Given the description of an element on the screen output the (x, y) to click on. 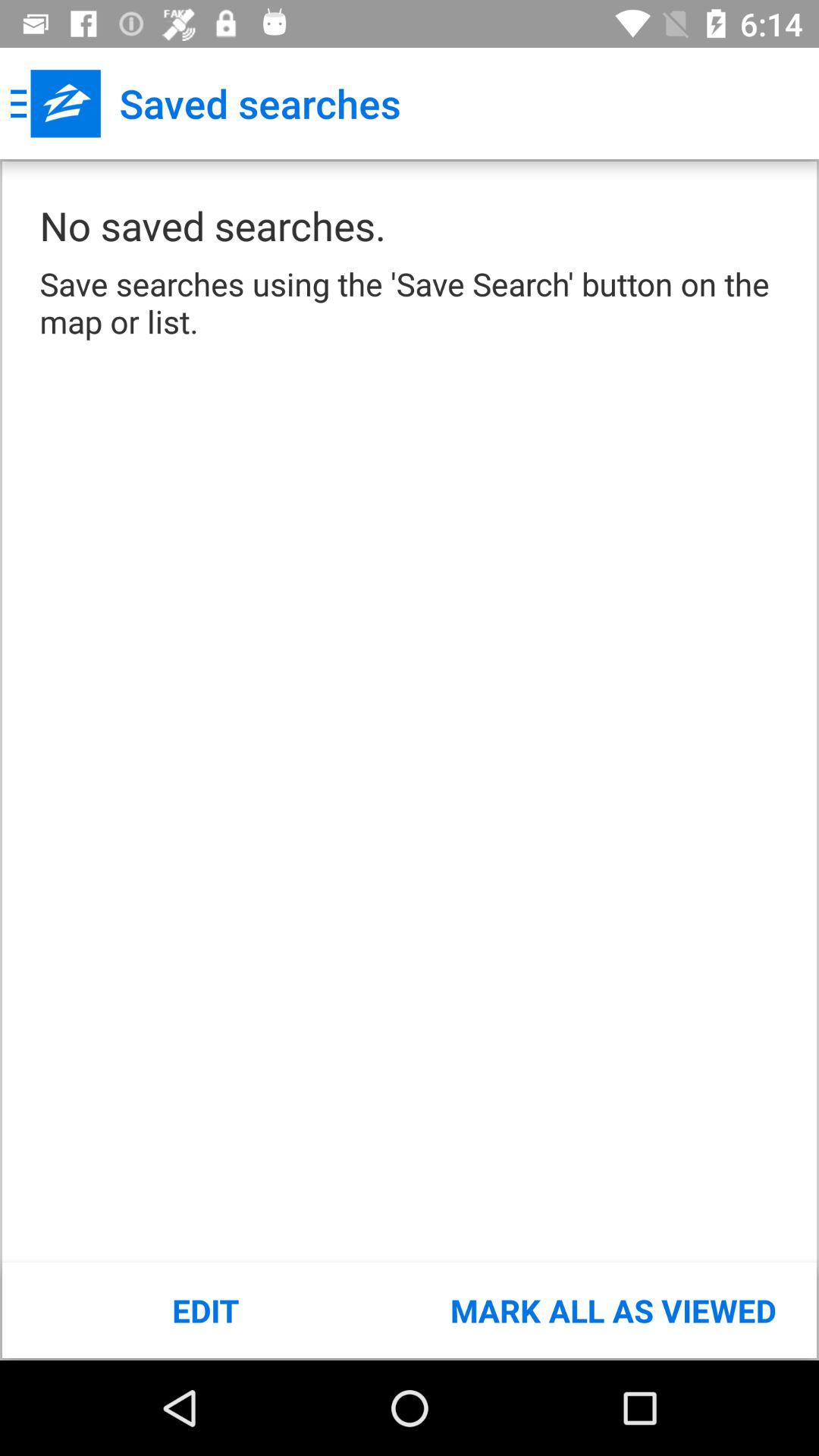
tap icon below save searches using item (612, 1310)
